Given the description of an element on the screen output the (x, y) to click on. 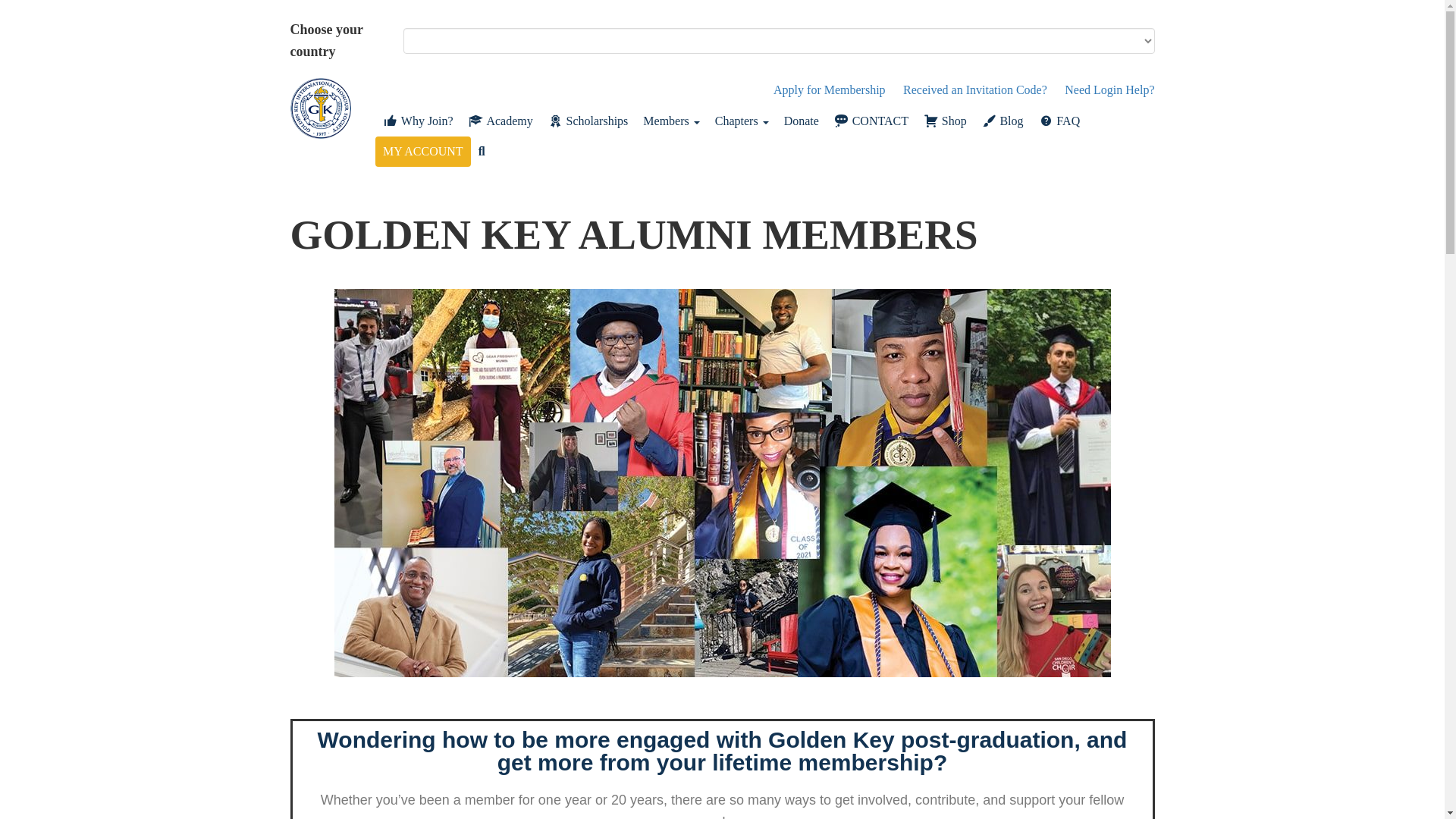
Scholarships (588, 121)
Need Login Help? (1109, 89)
Blog (1002, 121)
Donate (801, 121)
MY ACCOUNT (422, 151)
Shop (944, 121)
Members (670, 121)
Academy (500, 121)
CONTACT (871, 121)
